Given the description of an element on the screen output the (x, y) to click on. 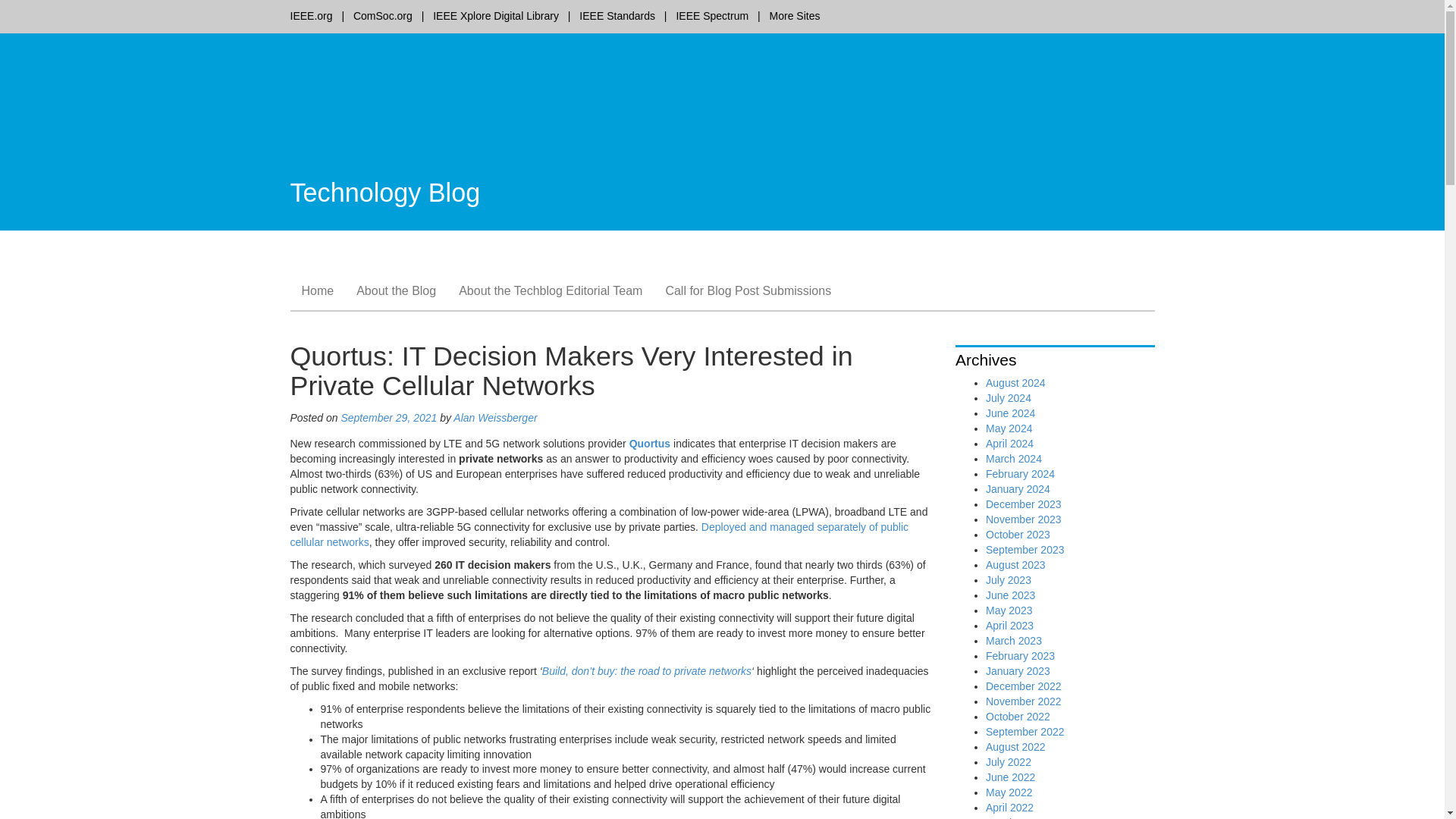
December 2023 (1023, 503)
August 2024 (1015, 382)
More Sites (795, 15)
June 2024 (1010, 413)
Home (317, 290)
July 2024 (1007, 398)
Deployed and managed separately of public cellular networks (598, 533)
Alan Weissberger (494, 417)
Quortus (648, 443)
About the Techblog Editorial Team (549, 290)
